Given the description of an element on the screen output the (x, y) to click on. 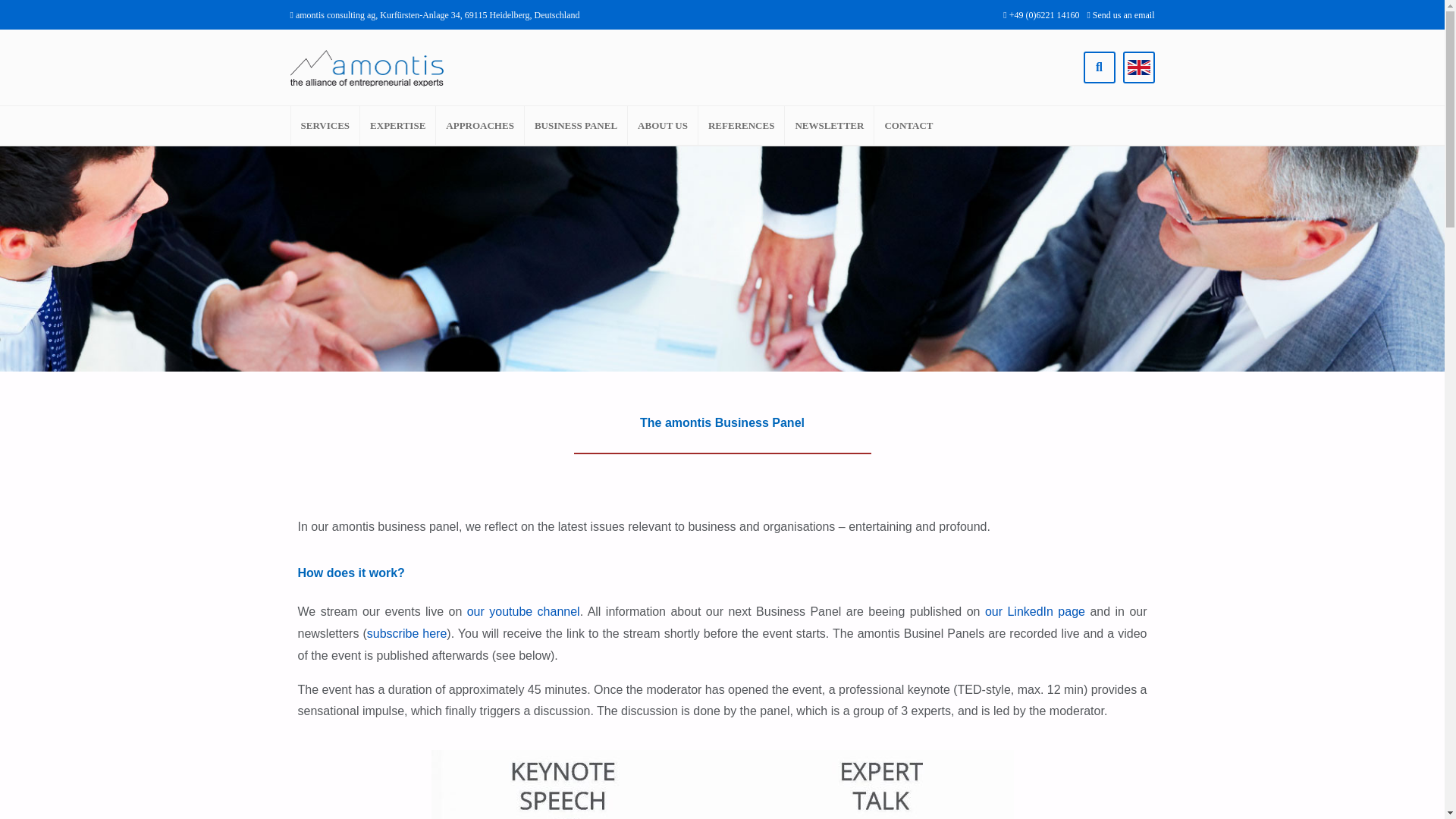
CONTACT (908, 125)
BUSINESS PANEL (575, 125)
EXPERTISE (397, 125)
REFERENCES (741, 125)
ABOUT US (662, 125)
APPROACHES (479, 125)
 Send us an email (1120, 14)
SERVICES (325, 125)
NEWSLETTER (828, 125)
